Given the description of an element on the screen output the (x, y) to click on. 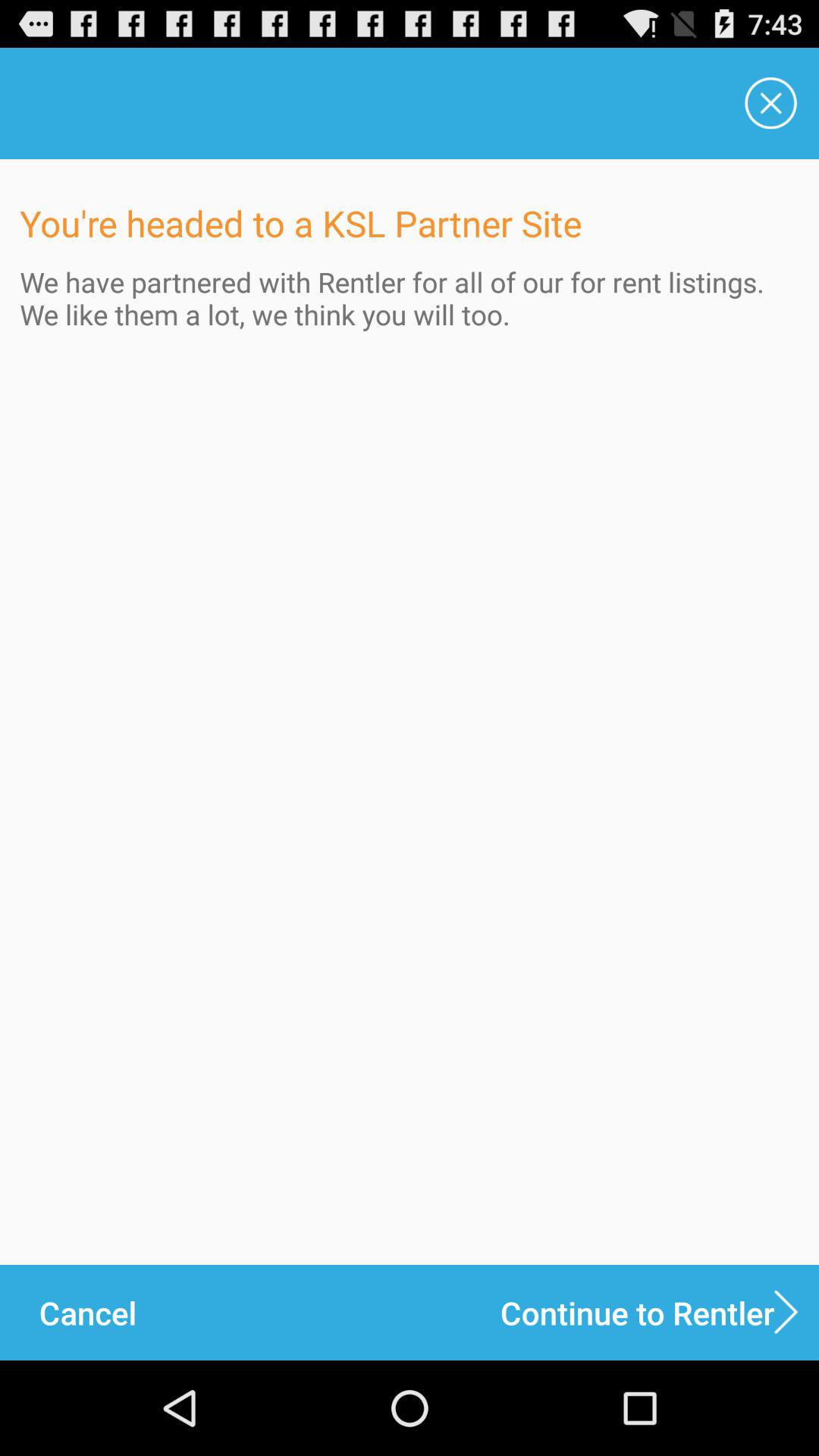
open the icon below we have partnered (87, 1312)
